Given the description of an element on the screen output the (x, y) to click on. 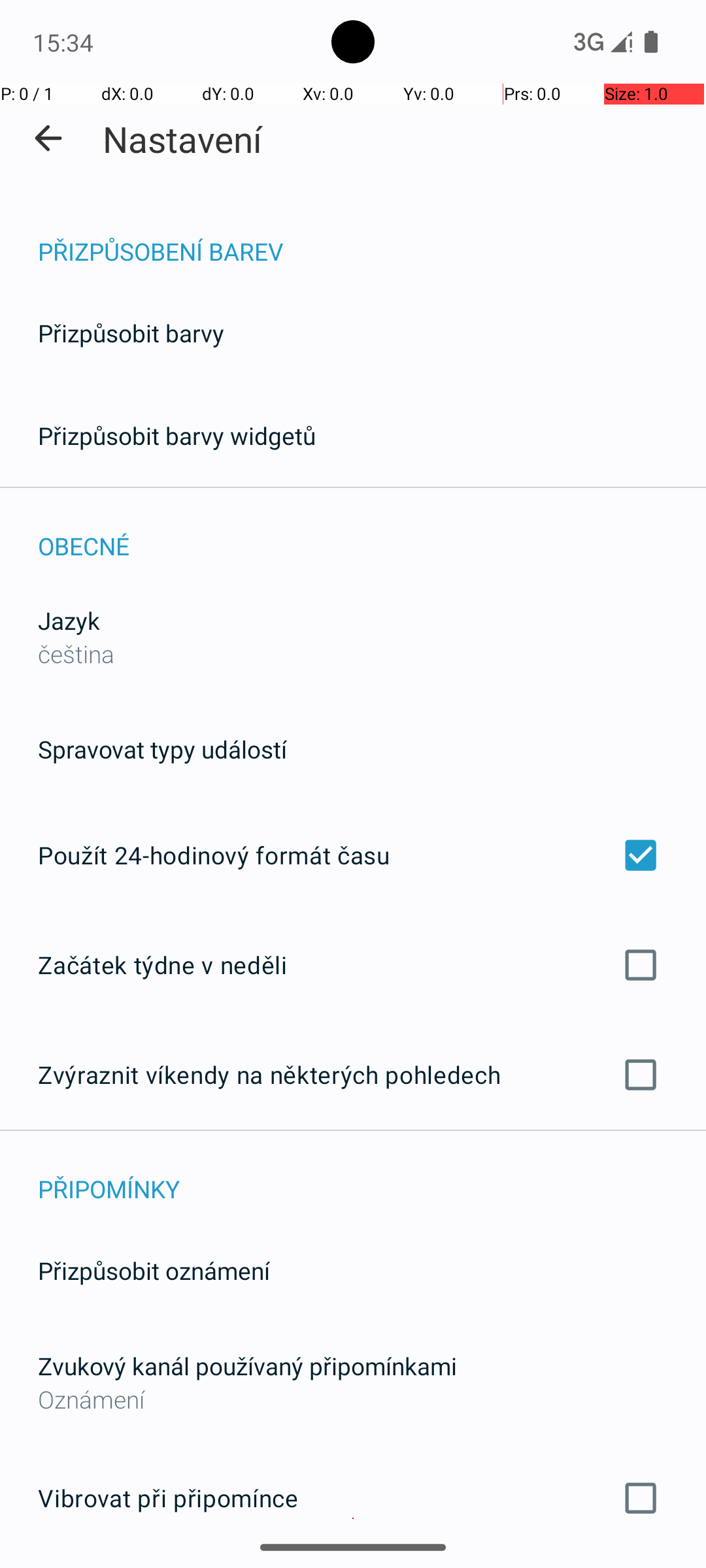
PŘIZPŮSOBENÍ BAREV Element type: android.widget.TextView (371, 237)
OBECNÉ Element type: android.widget.TextView (371, 532)
PŘIPOMÍNKY Element type: android.widget.TextView (371, 1174)
Přizpůsobit barvy Element type: android.widget.TextView (130, 332)
Přizpůsobit barvy widgetů Element type: android.widget.TextView (176, 435)
Jazyk Element type: android.widget.TextView (68, 620)
čeština Element type: android.widget.TextView (75, 653)
Spravovat typy událostí Element type: android.widget.TextView (161, 748)
Použít 24-hodinový formát času Element type: android.widget.CheckBox (352, 855)
Začátek týdne v neděli Element type: android.widget.CheckBox (352, 964)
Zvýraznit víkendy na některých pohledech Element type: android.widget.CheckBox (352, 1074)
Přizpůsobit oznámení Element type: android.widget.TextView (153, 1270)
Zvukový kanál používaný připomínkami Element type: android.widget.TextView (246, 1365)
Oznámení Element type: android.widget.TextView (352, 1398)
Vibrovat při připomínce Element type: android.widget.CheckBox (352, 1497)
Opakovat připomínky až do zamítnutí Element type: android.widget.CheckBox (352, 1567)
